Given the description of an element on the screen output the (x, y) to click on. 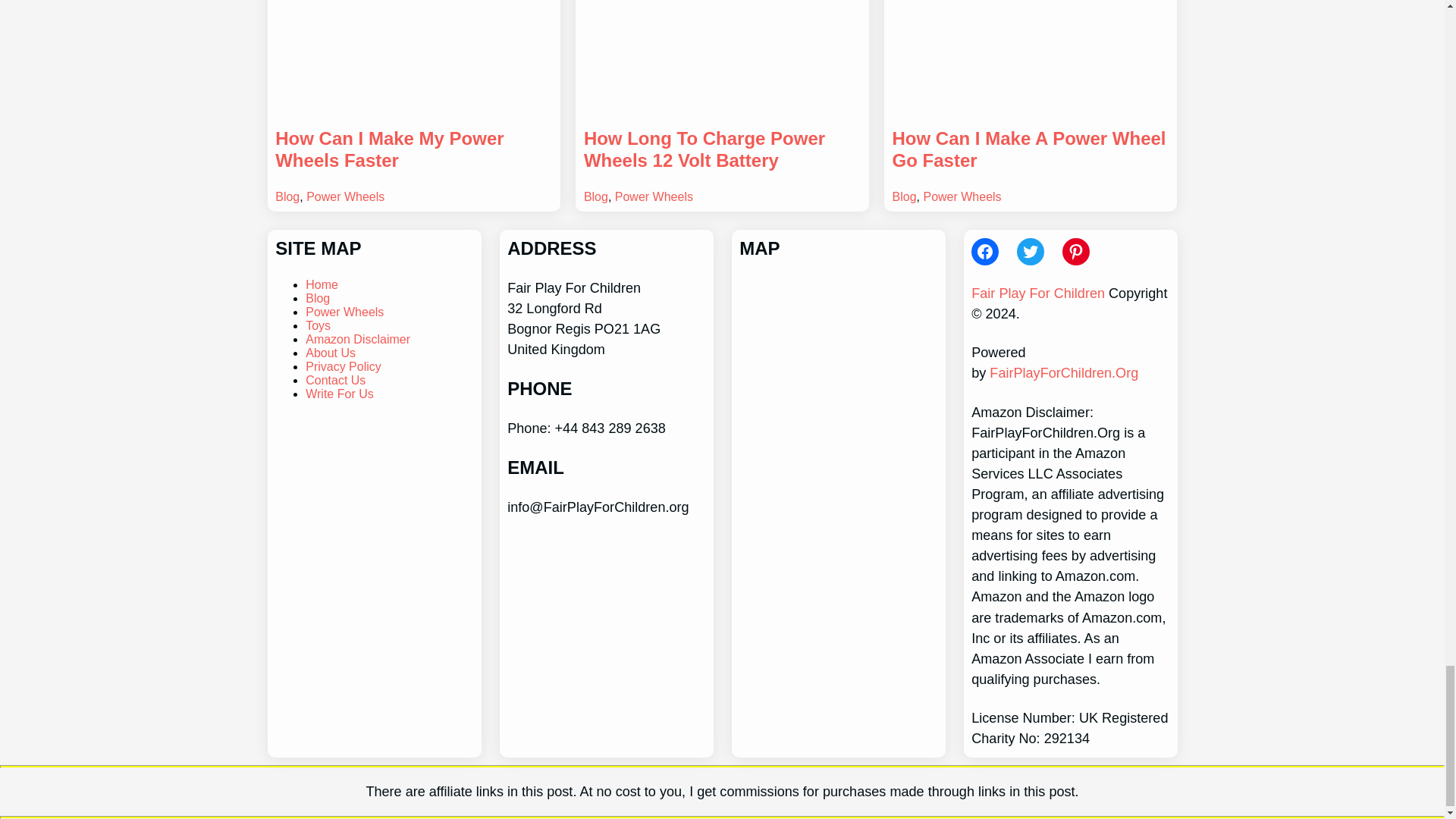
Power Wheels (653, 196)
Privacy Policy (343, 366)
Toys (317, 325)
Pinterest (1075, 251)
FairPlayForChildren.Org (1064, 372)
Blog (595, 196)
Twitter (1029, 251)
How Can I Make A Power Wheel Go Faster (1030, 149)
Blog (904, 196)
Blog (287, 196)
